Given the description of an element on the screen output the (x, y) to click on. 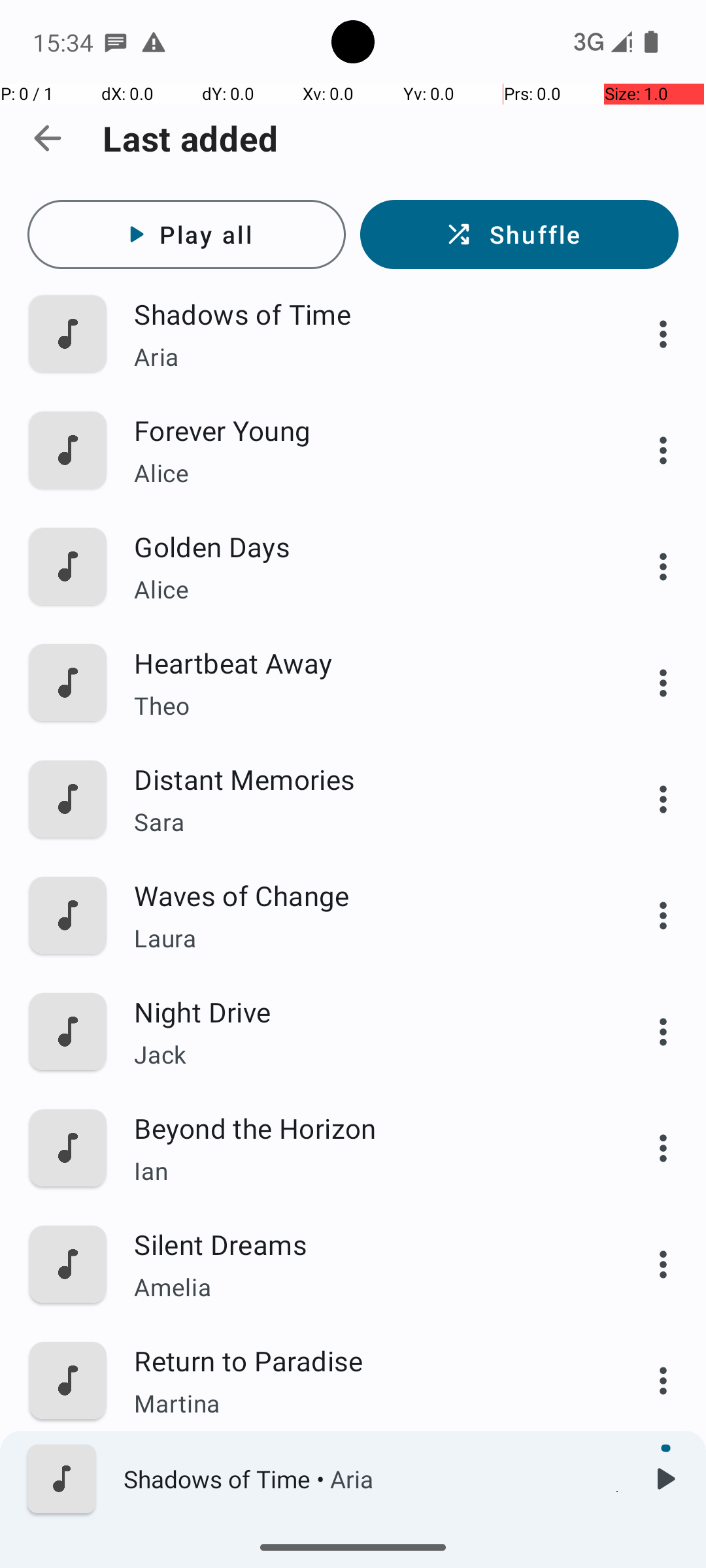
Last added Element type: android.widget.TextView (190, 137)
Shadows of Time • Aria Element type: android.widget.TextView (372, 1478)
Play all Element type: android.widget.Button (186, 234)
Shuffle Element type: android.widget.Button (519, 234)
Shadows of Time Element type: android.widget.TextView (363, 313)
Aria Element type: android.widget.TextView (363, 356)
Forever Young Element type: android.widget.TextView (363, 429)
Alice Element type: android.widget.TextView (363, 472)
Golden Days Element type: android.widget.TextView (363, 546)
Heartbeat Away Element type: android.widget.TextView (363, 662)
Theo Element type: android.widget.TextView (363, 704)
Distant Memories Element type: android.widget.TextView (363, 778)
Sara Element type: android.widget.TextView (363, 821)
Waves of Change Element type: android.widget.TextView (363, 895)
Laura Element type: android.widget.TextView (363, 937)
Night Drive Element type: android.widget.TextView (363, 1011)
Jack Element type: android.widget.TextView (363, 1053)
Beyond the Horizon Element type: android.widget.TextView (363, 1127)
Ian Element type: android.widget.TextView (363, 1170)
Silent Dreams Element type: android.widget.TextView (363, 1243)
Amelia Element type: android.widget.TextView (363, 1286)
Return to Paradise Element type: android.widget.TextView (363, 1360)
Martina Element type: android.widget.TextView (363, 1402)
Path to Zenith Element type: android.widget.TextView (363, 1476)
Henry Element type: android.widget.TextView (363, 1518)
